Given the description of an element on the screen output the (x, y) to click on. 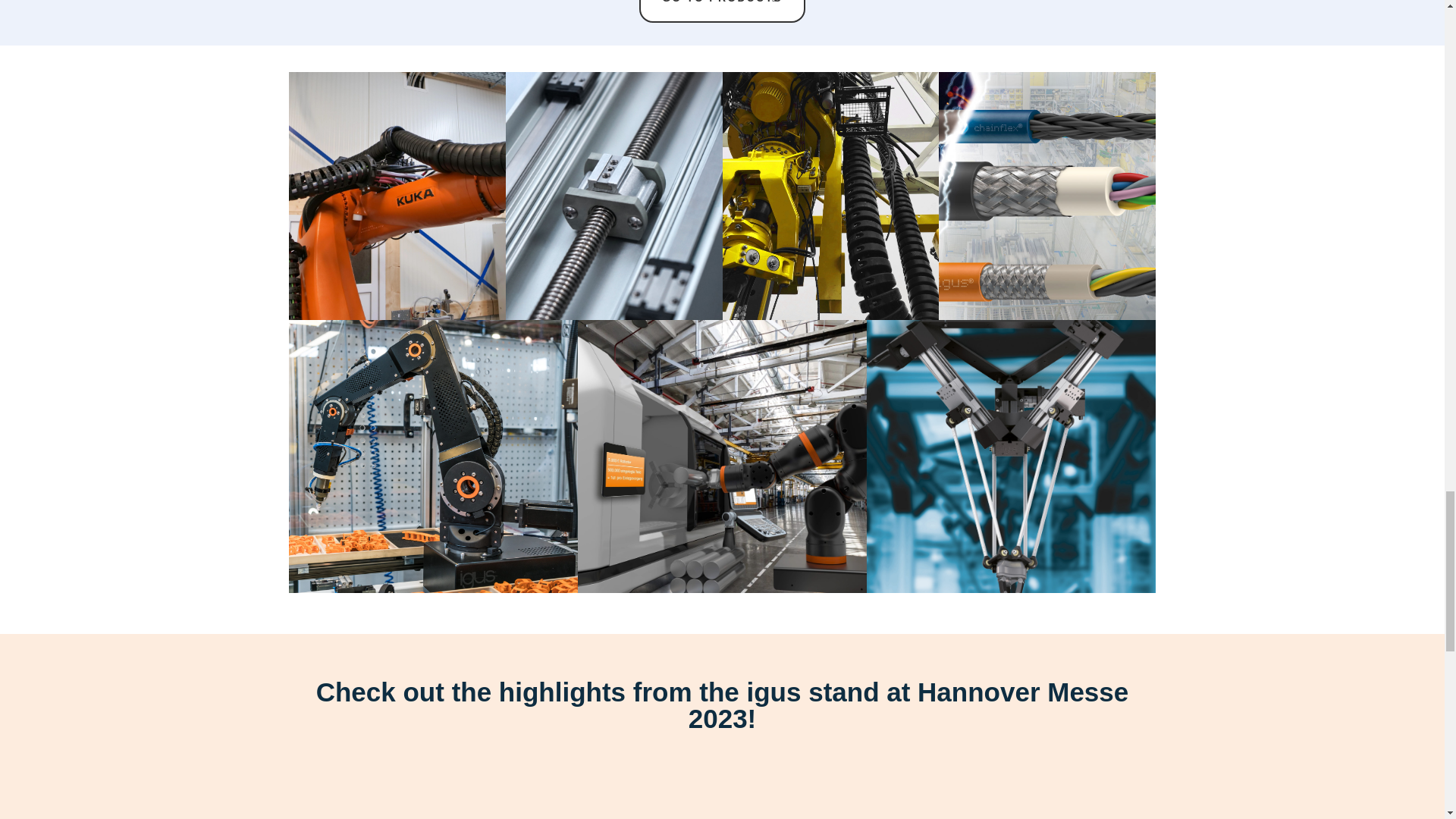
igus enjoyneering auf der Hannover Messe 2023 (722, 796)
